Given the description of an element on the screen output the (x, y) to click on. 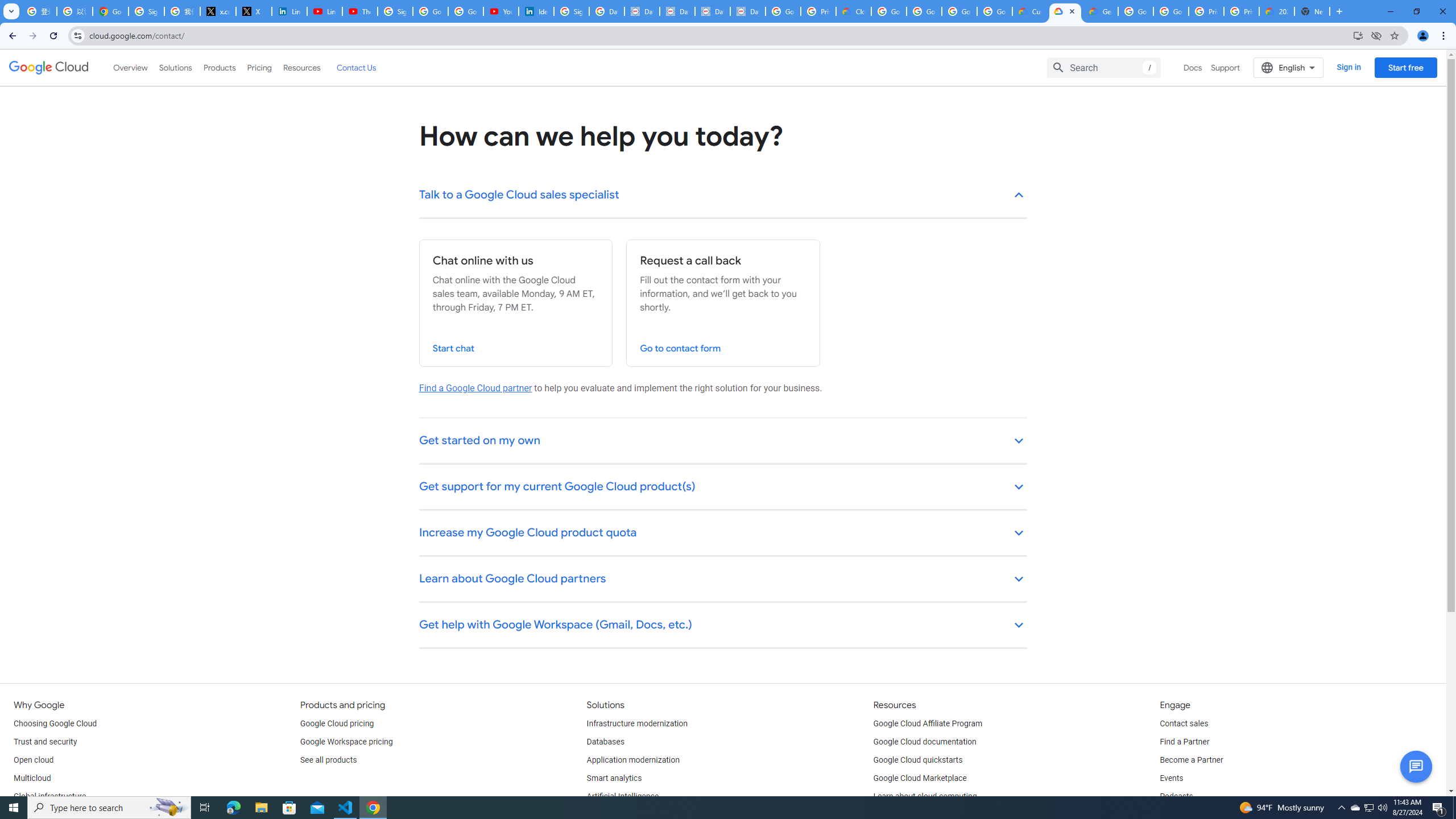
Increase my Google Cloud product quota keyboard_arrow_down (723, 533)
Customer Care | Google Cloud (1029, 11)
Google Cloud Platform (1170, 11)
Google Cloud Marketplace (919, 778)
Talk to a Google Cloud sales specialist keyboard_arrow_up (723, 195)
Become a Partner (1190, 760)
Google Workspace - Specific Terms (959, 11)
Learn about cloud computing (924, 796)
